Given the description of an element on the screen output the (x, y) to click on. 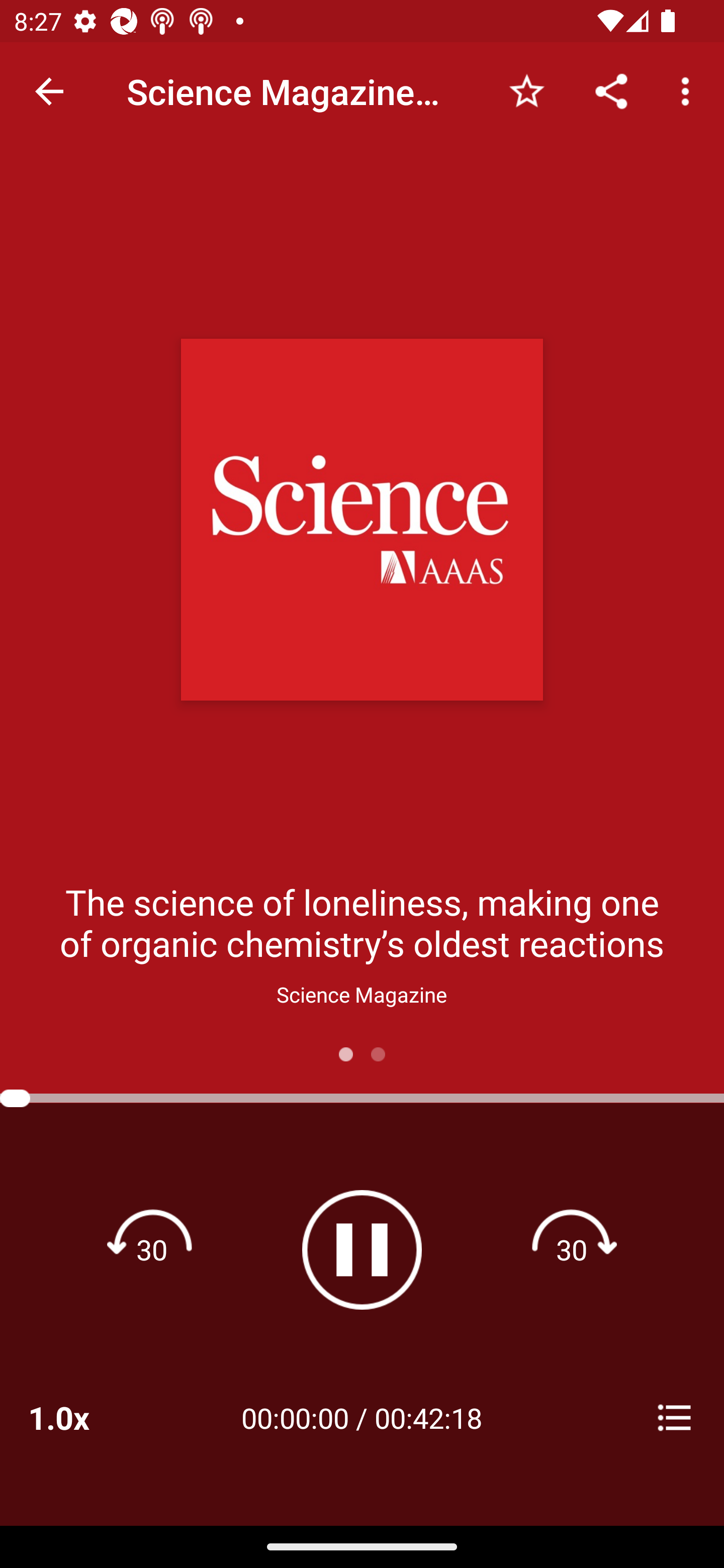
Navigate up (49, 91)
Add to Favorites (526, 90)
Share... (611, 90)
More options (688, 90)
Science Magazine (361, 994)
Pause (361, 1249)
Rewind (151, 1249)
Fast forward (571, 1249)
1.0x Playback Speeds (84, 1417)
00:42:18 (428, 1417)
